Given the description of an element on the screen output the (x, y) to click on. 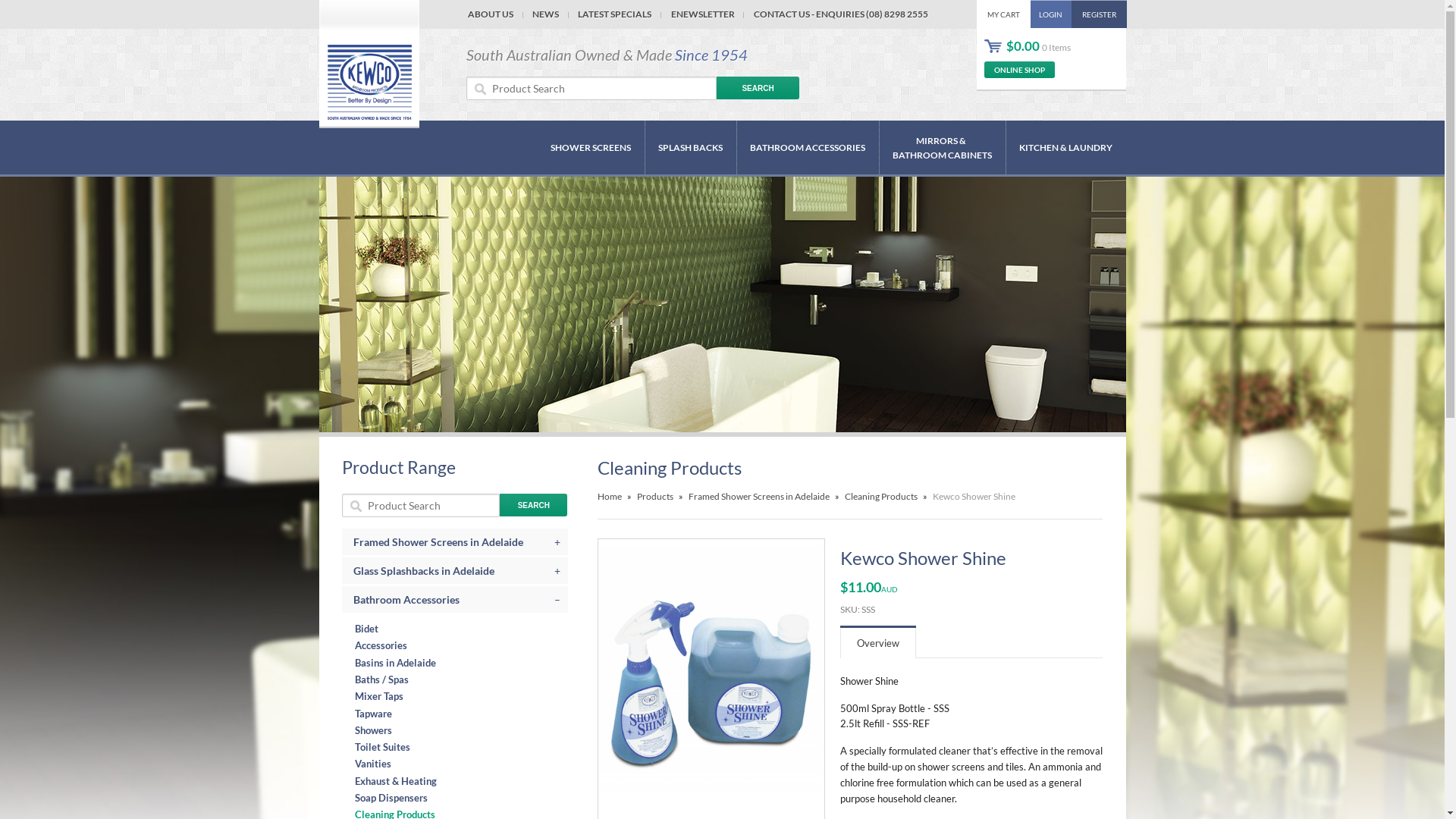
Kewco Shower Shine Element type: text (973, 496)
Toilet Suites Element type: text (457, 746)
Glass Splashbacks in Adelaide
+ Element type: text (454, 570)
BATHROOM ACCESSORIES Element type: text (806, 147)
Framed Shower Screens in Adelaide Element type: text (758, 496)
SPLASH BACKS Element type: text (690, 147)
Exhaust & Heating Element type: text (457, 780)
Search Element type: text (533, 504)
Overview Element type: text (878, 642)
Bidet Element type: text (457, 628)
MY CART Element type: text (1003, 14)
Tapware Element type: text (457, 713)
Vanities Element type: text (457, 763)
Basins in Adelaide Element type: text (457, 662)
Search Element type: text (757, 87)
Accessories Element type: text (457, 645)
SHOWER SCREENS Element type: text (590, 147)
Home Element type: text (609, 496)
Showers Element type: text (457, 729)
Framed Shower Screens in Adelaide
+ Element type: text (454, 541)
MIRRORS & 
BATHROOM CABINETS Element type: text (941, 147)
CONTACT US - ENQUIRIES (08) 8298 2555 Element type: text (840, 14)
NEWS Element type: text (545, 14)
ONLINE SHOP Element type: text (1019, 69)
KITCHEN & LAUNDRY Element type: text (1065, 147)
ENEWSLETTER Element type: text (702, 14)
Soap Dispensers Element type: text (457, 797)
LOGIN Element type: text (1050, 14)
ABOUT US Element type: text (490, 14)
$0.00 0 Items Element type: text (1027, 45)
Baths / Spas Element type: text (457, 679)
Mixer Taps Element type: text (457, 695)
LATEST SPECIALS Element type: text (614, 14)
Products Element type: text (655, 496)
REGISTER Element type: text (1099, 14)
Cleaning Products Element type: text (880, 496)
